Given the description of an element on the screen output the (x, y) to click on. 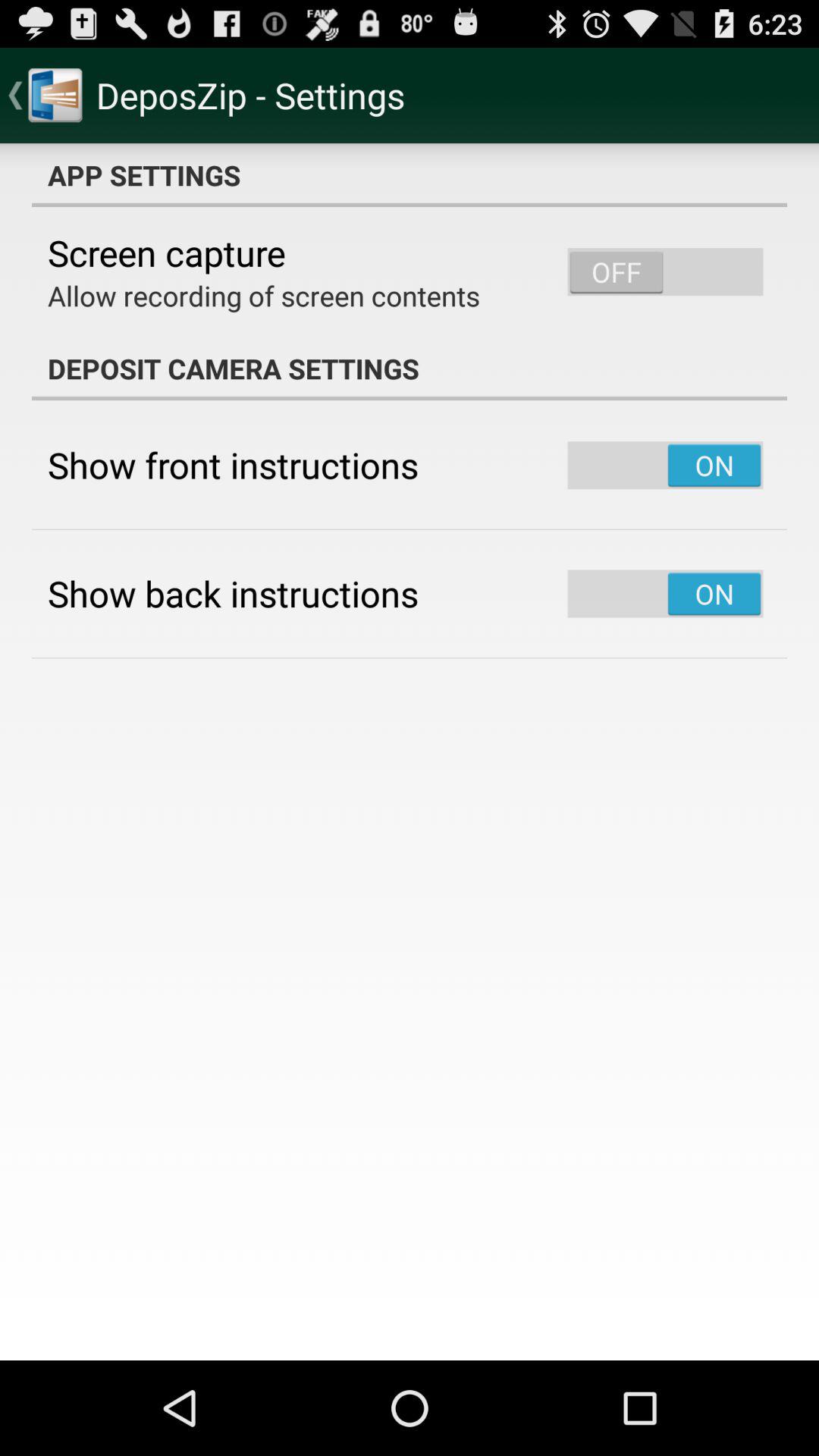
launch the icon below the screen capture (263, 295)
